Given the description of an element on the screen output the (x, y) to click on. 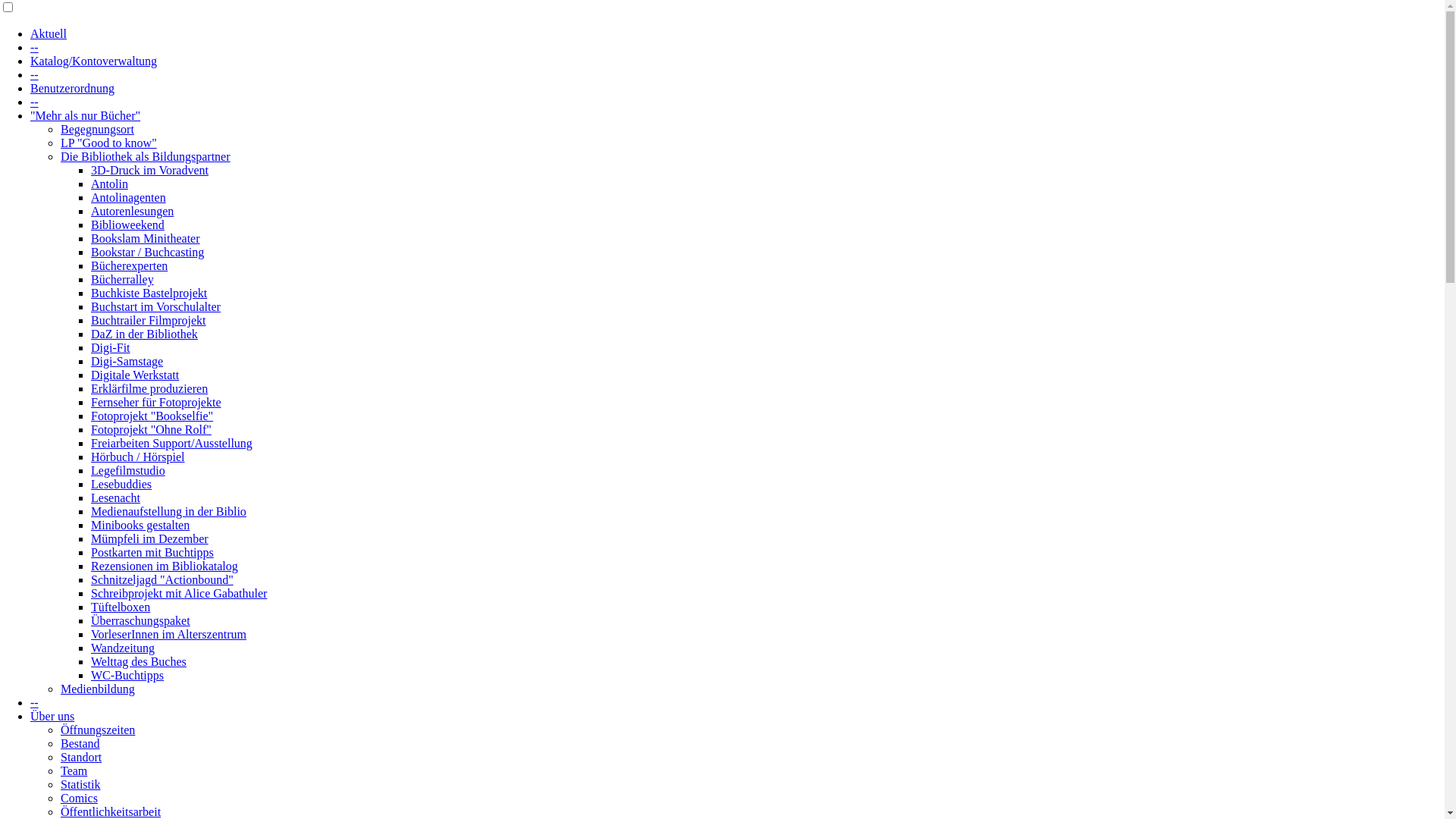
Buchstart im Vorschulalter Element type: text (155, 306)
Biblioweekend Element type: text (127, 224)
DaZ in der Bibliothek Element type: text (144, 333)
Schreibprojekt mit Alice Gabathuler Element type: text (178, 592)
Minibooks gestalten Element type: text (140, 524)
Benutzerordnung Element type: text (72, 87)
Digitale Werkstatt Element type: text (134, 374)
Katalog/Kontoverwaltung Element type: text (93, 60)
Welttag des Buches Element type: text (138, 661)
Legefilmstudio Element type: text (128, 470)
LP "Good to know" Element type: text (108, 142)
Aktuell Element type: text (48, 33)
Autorenlesungen Element type: text (132, 210)
Freiarbeiten Support/Ausstellung Element type: text (171, 442)
-- Element type: text (34, 101)
Comics Element type: text (78, 797)
VorleserInnen im Alterszentrum Element type: text (168, 633)
-- Element type: text (34, 702)
Schnitzeljagd "Actionbound" Element type: text (162, 579)
Bestand Element type: text (80, 743)
Medienbildung Element type: text (97, 688)
Fotoprojekt "Ohne Rolf" Element type: text (151, 429)
Rezensionen im Bibliokatalog Element type: text (164, 565)
Buchkiste Bastelprojekt Element type: text (149, 292)
Wandzeitung Element type: text (122, 647)
Bookstar / Buchcasting Element type: text (147, 251)
Die Bibliothek als Bildungspartner Element type: text (145, 156)
Bookslam Minitheater Element type: text (145, 238)
Fotoprojekt "Bookselfie" Element type: text (152, 415)
WC-Buchtipps Element type: text (127, 674)
Medienaufstellung in der Biblio Element type: text (168, 511)
Antolin Element type: text (109, 183)
3D-Druck im Voradvent Element type: text (149, 169)
Postkarten mit Buchtipps Element type: text (152, 552)
Digi-Fit Element type: text (110, 347)
Antolinagenten Element type: text (128, 197)
Lesebuddies Element type: text (121, 483)
Lesenacht Element type: text (115, 497)
Buchtrailer Filmprojekt Element type: text (148, 319)
-- Element type: text (34, 74)
Statistik Element type: text (80, 784)
Team Element type: text (73, 770)
-- Element type: text (34, 46)
Digi-Samstage Element type: text (127, 360)
Begegnungsort Element type: text (97, 128)
Standort Element type: text (80, 756)
